Given the description of an element on the screen output the (x, y) to click on. 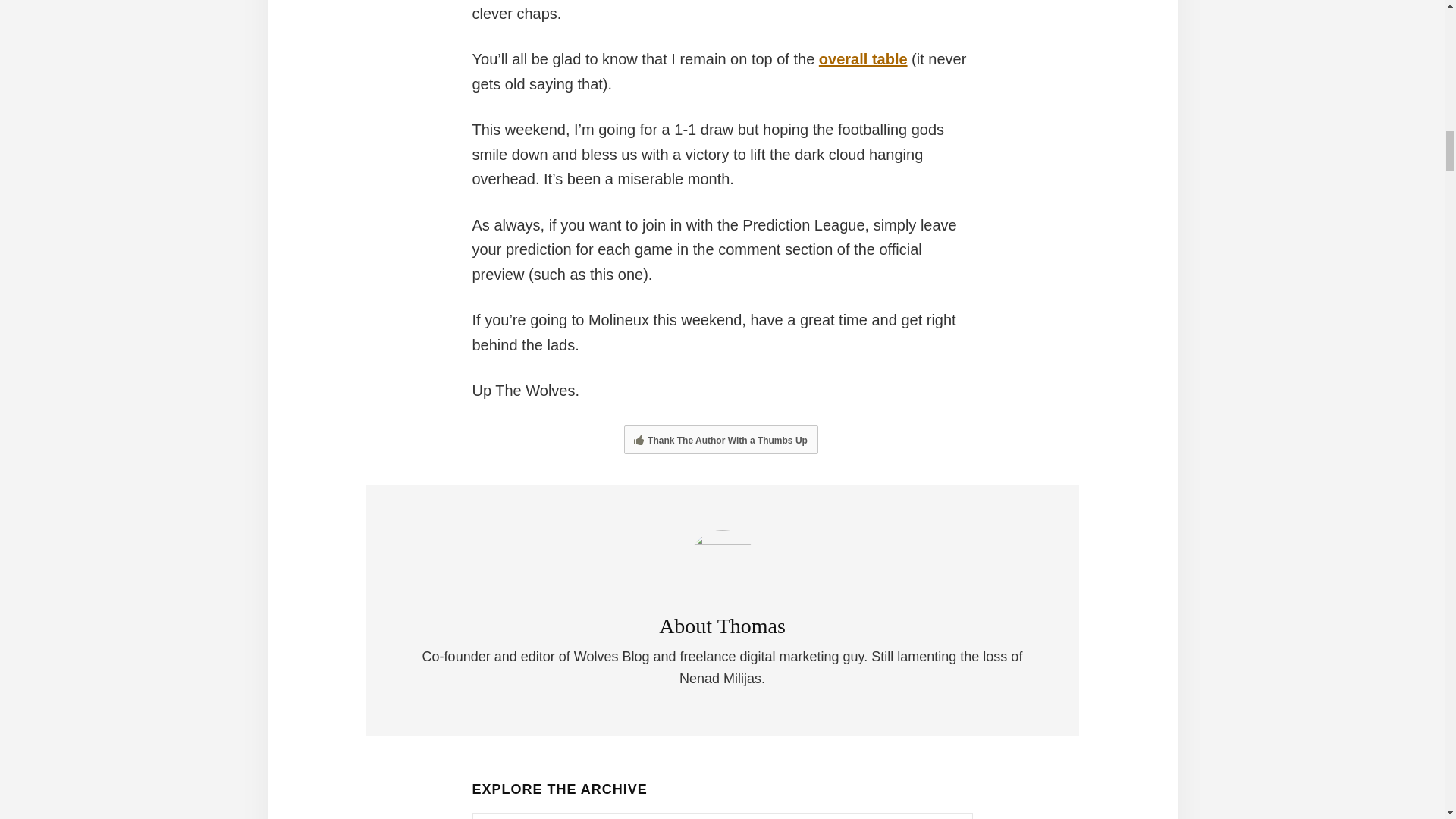
overall table (862, 58)
